Given the description of an element on the screen output the (x, y) to click on. 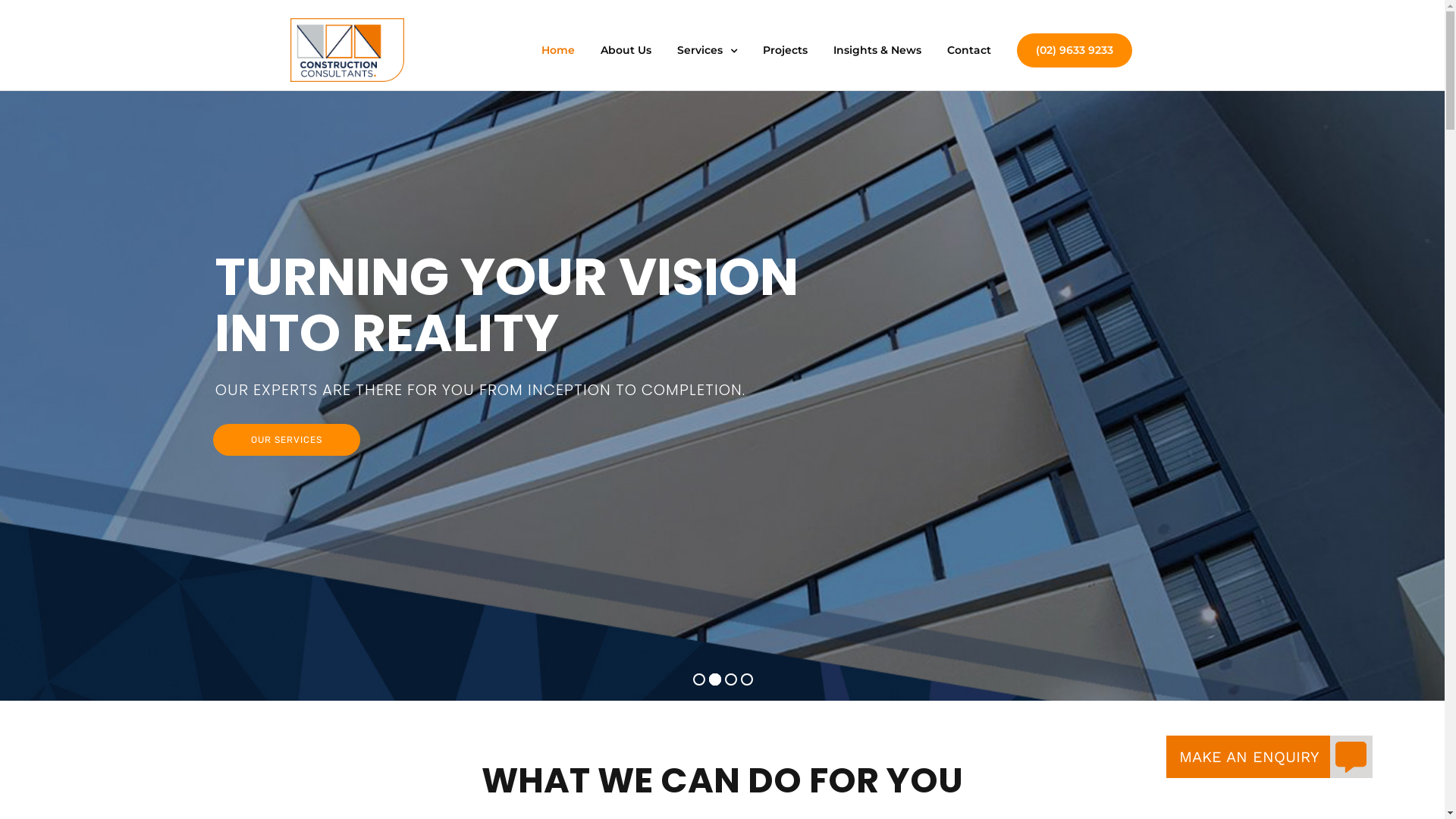
Services Element type: text (706, 50)
About Us Element type: text (625, 49)
Home Element type: text (557, 49)
Insights & News Element type: text (876, 49)
(02) 9633 9233 Element type: text (1073, 50)
MAKE AN ENQUIRY Element type: text (1351, 756)
Projects Element type: text (784, 49)
Contact Element type: text (968, 49)
